Given the description of an element on the screen output the (x, y) to click on. 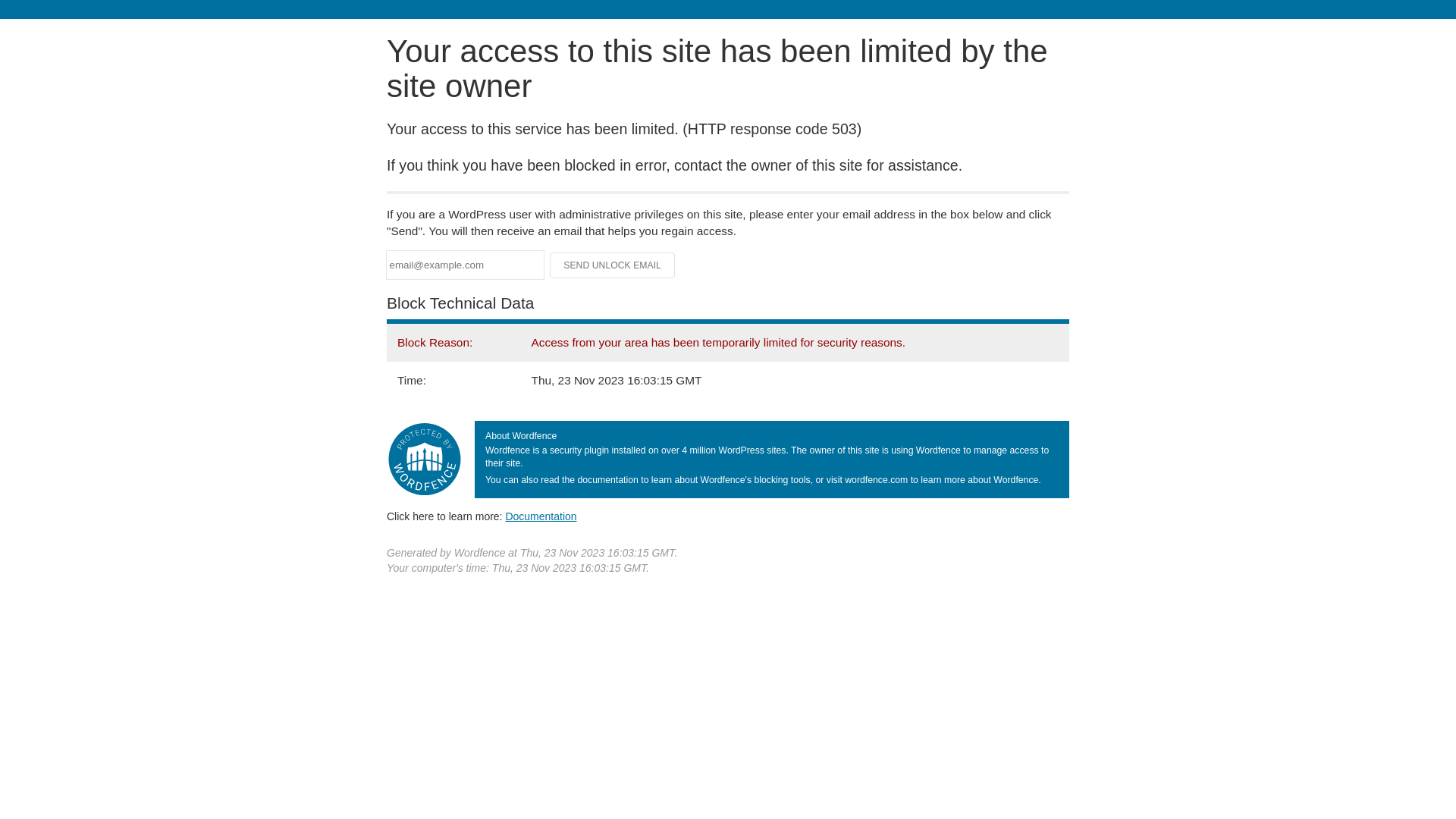
Send Unlock Email Element type: text (612, 265)
Documentation Element type: text (540, 516)
